Given the description of an element on the screen output the (x, y) to click on. 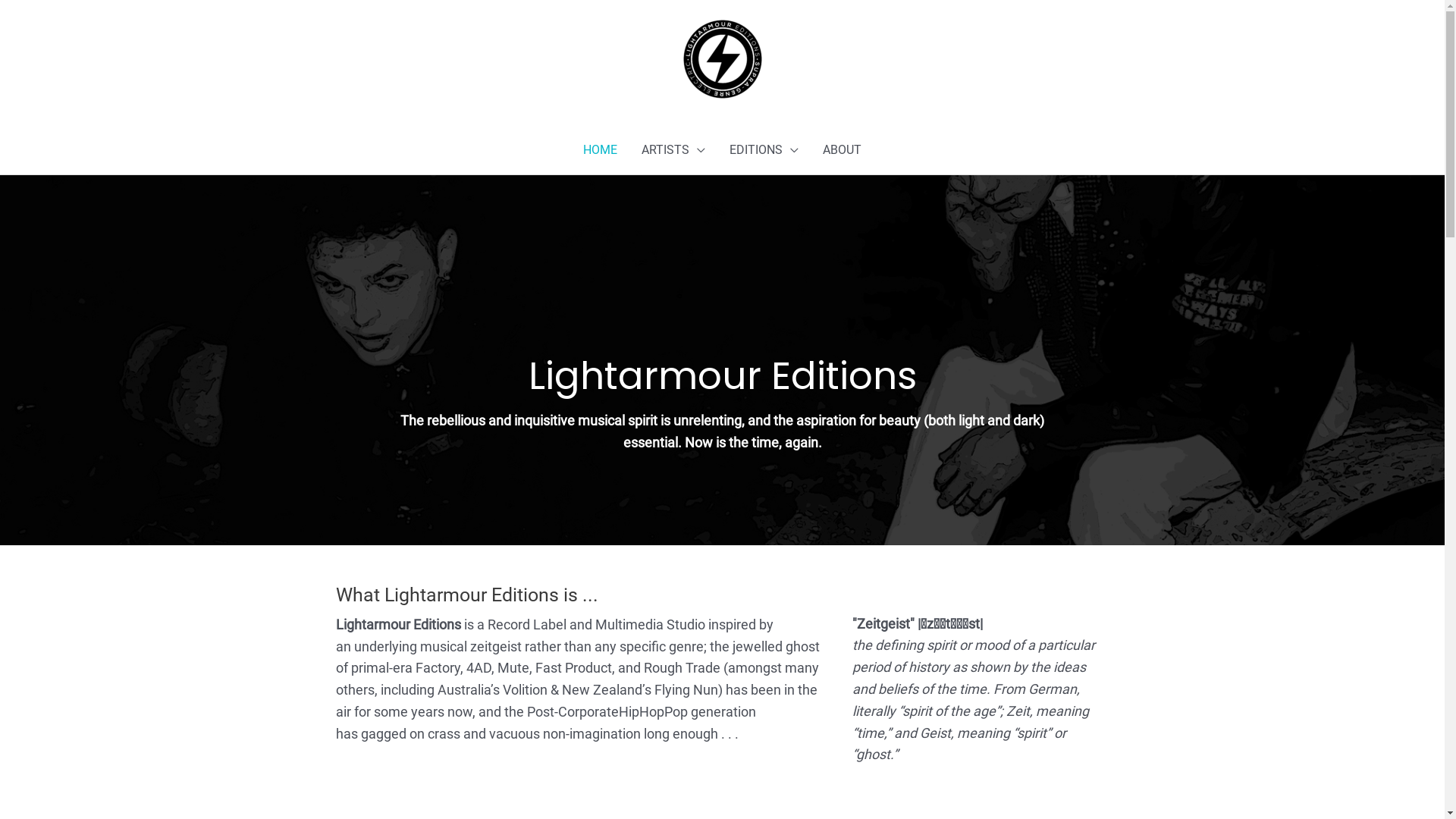
EDITIONS Element type: text (763, 149)
ARTISTS Element type: text (673, 149)
HOME Element type: text (600, 149)
ABOUT Element type: text (841, 149)
